Given the description of an element on the screen output the (x, y) to click on. 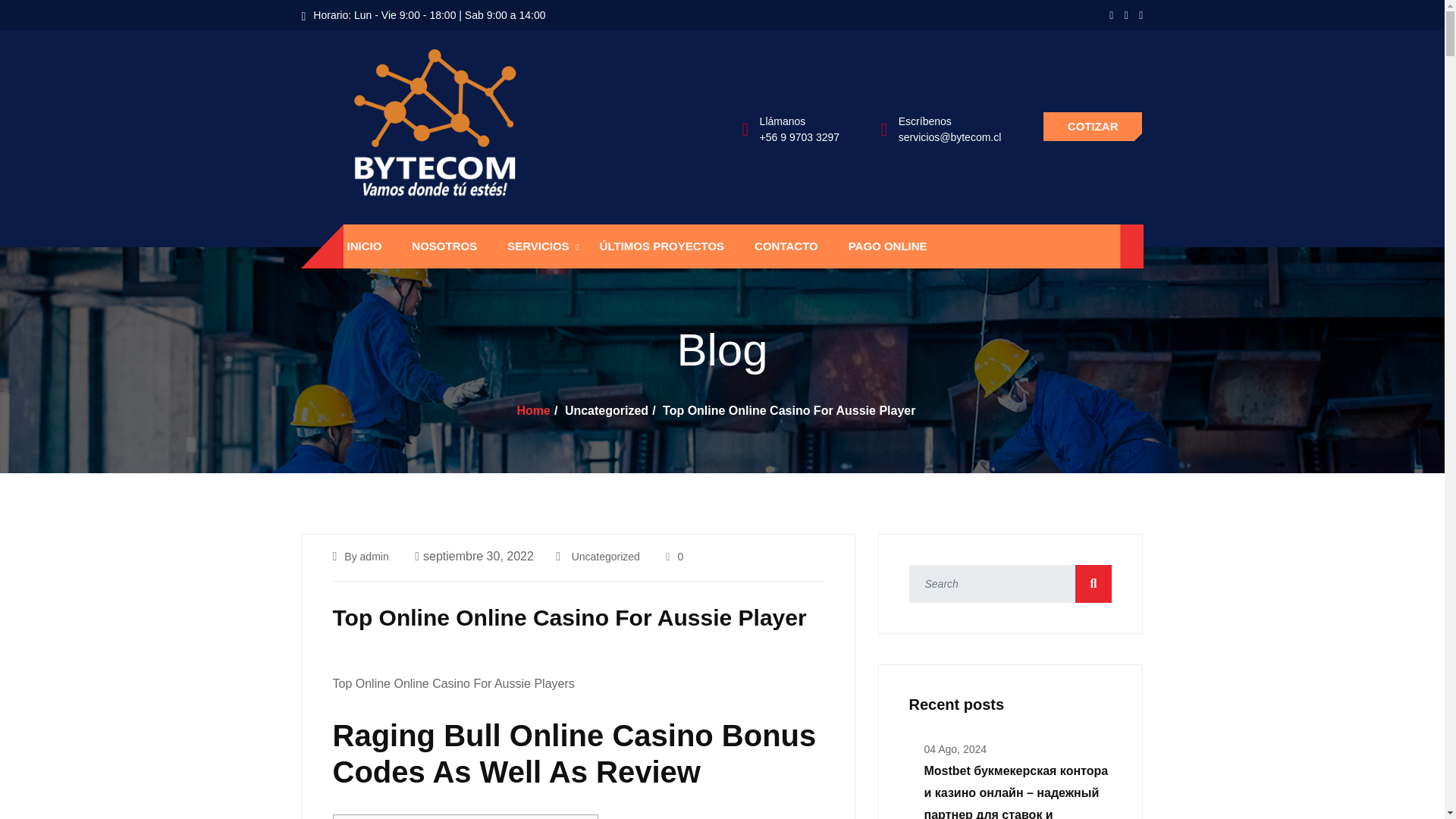
Home (533, 410)
COTIZAR (1092, 126)
Uncategorized (606, 556)
By admin (365, 556)
PAGO ONLINE (887, 246)
CONTACTO (786, 246)
INICIO (363, 246)
SERVICIOS (537, 246)
NOSOTROS (443, 246)
